Given the description of an element on the screen output the (x, y) to click on. 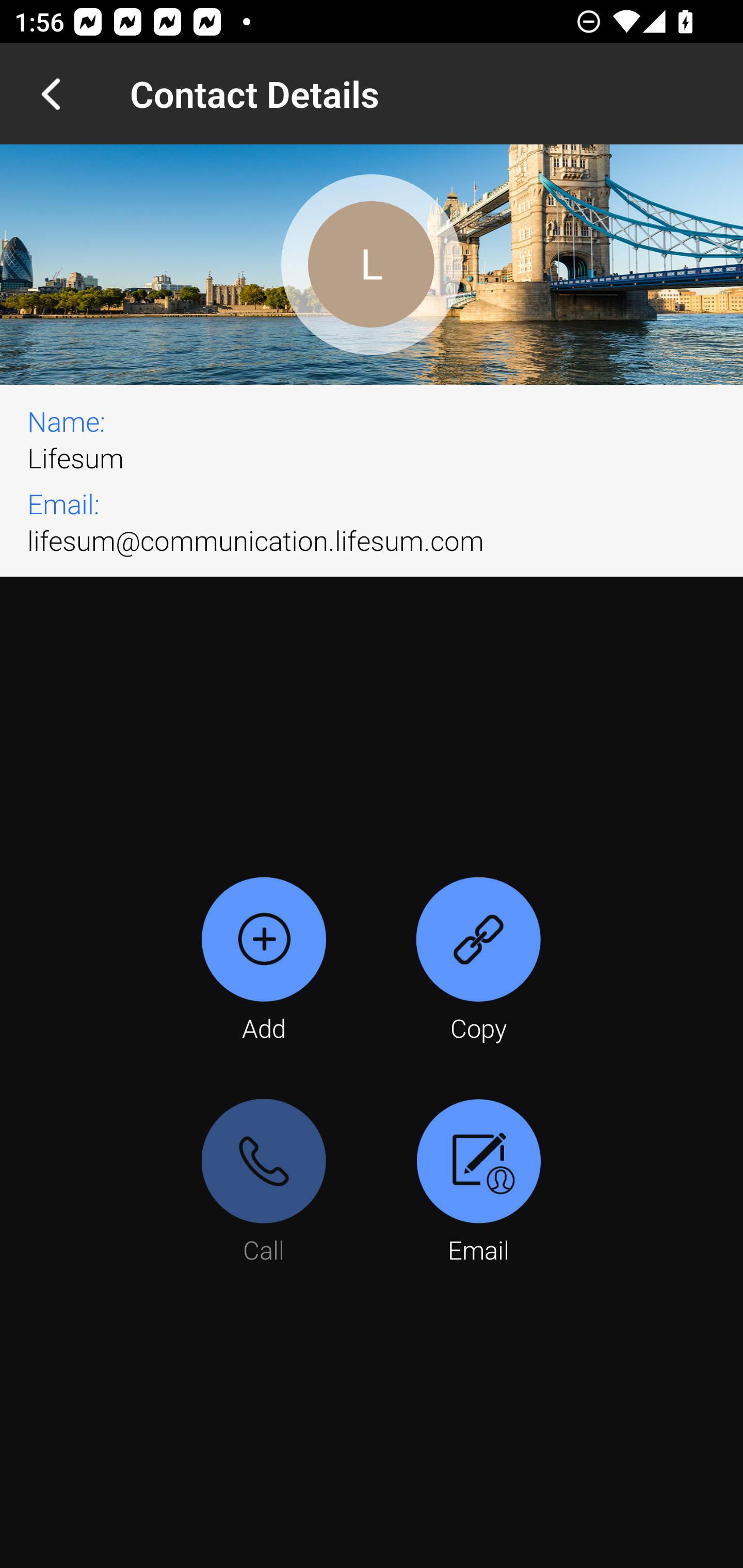
Navigate up (50, 93)
Add (264, 961)
Copy (478, 961)
Call (264, 1182)
Email (478, 1182)
